Given the description of an element on the screen output the (x, y) to click on. 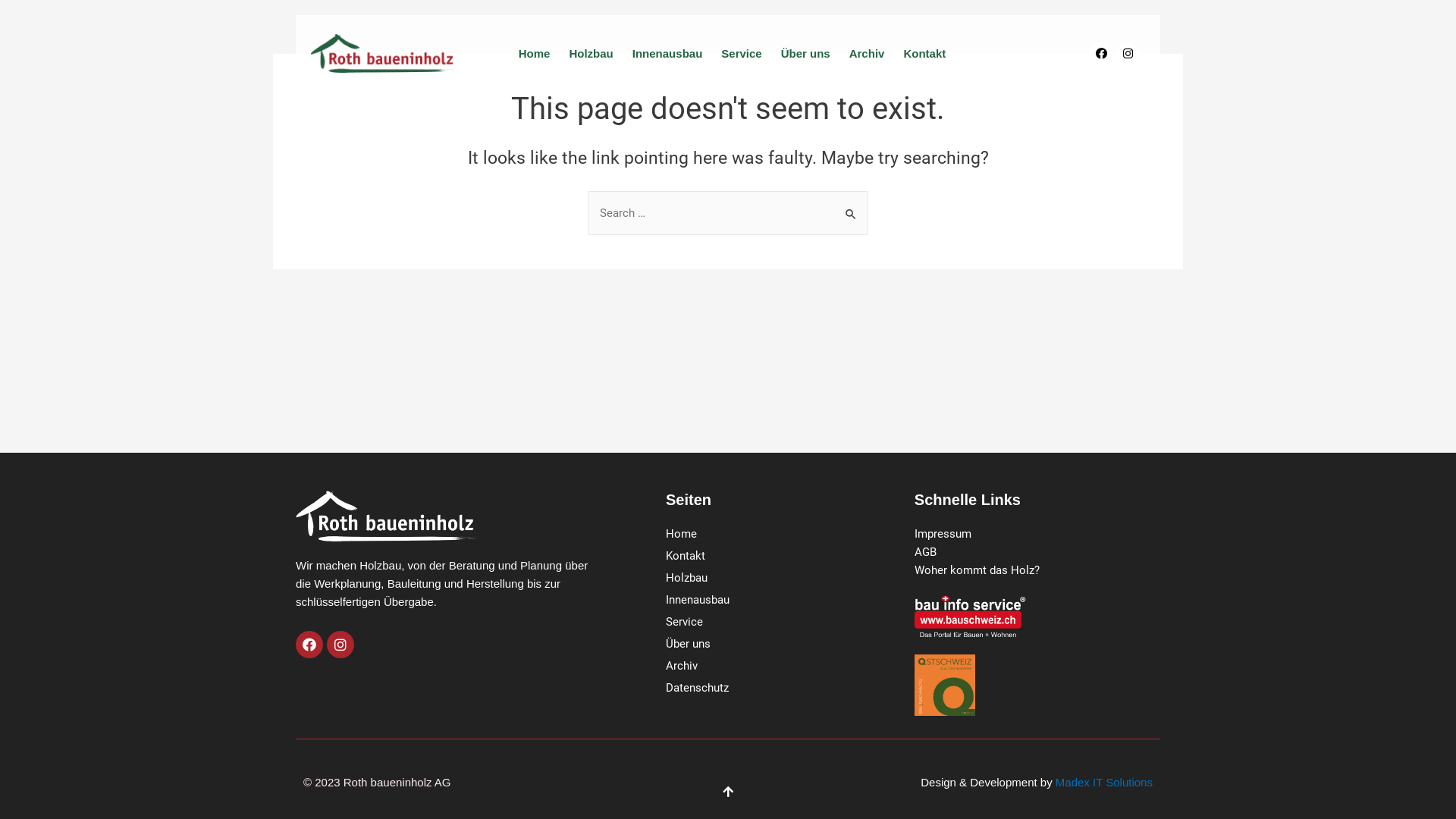
Service Element type: text (789, 621)
Holzbau Element type: text (590, 53)
Madex IT Solutions Element type: text (1103, 781)
Impressum Element type: text (1035, 533)
Service Element type: text (741, 53)
Archiv Element type: text (789, 665)
Holzbau Element type: text (789, 577)
Kontakt Element type: text (789, 555)
Innenausbau Element type: text (789, 599)
Innenausbau Element type: text (666, 53)
Woher kommt das Holz? Element type: text (1035, 570)
Home Element type: text (533, 53)
AGB Element type: text (1035, 551)
Datenschutz Element type: text (789, 687)
Search Element type: text (851, 206)
Archiv Element type: text (866, 53)
Home Element type: text (789, 533)
Kontakt Element type: text (924, 53)
